Given the description of an element on the screen output the (x, y) to click on. 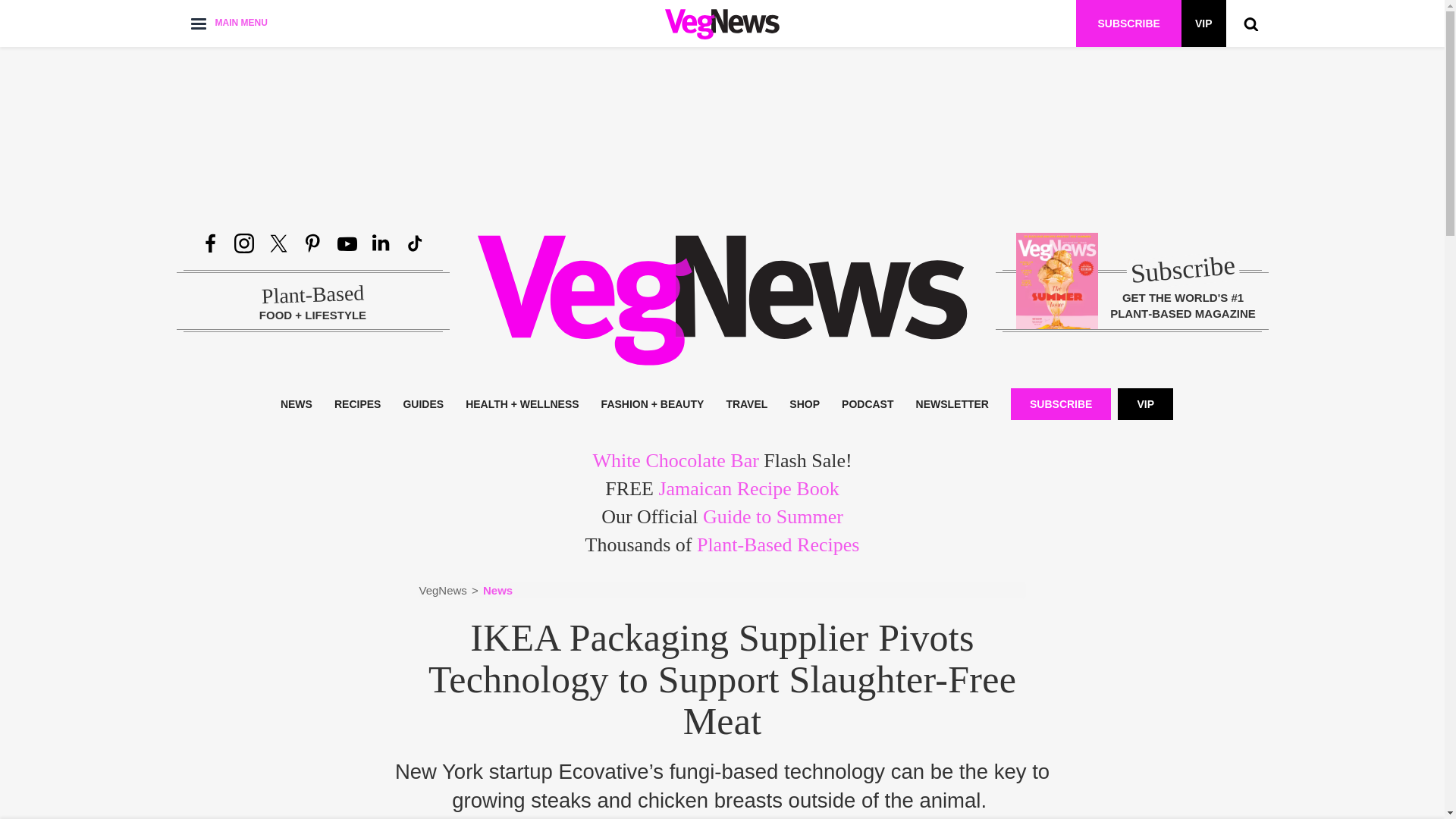
Show search (1250, 22)
MAIN MENU (228, 23)
Become a VIP (1202, 23)
